Given the description of an element on the screen output the (x, y) to click on. 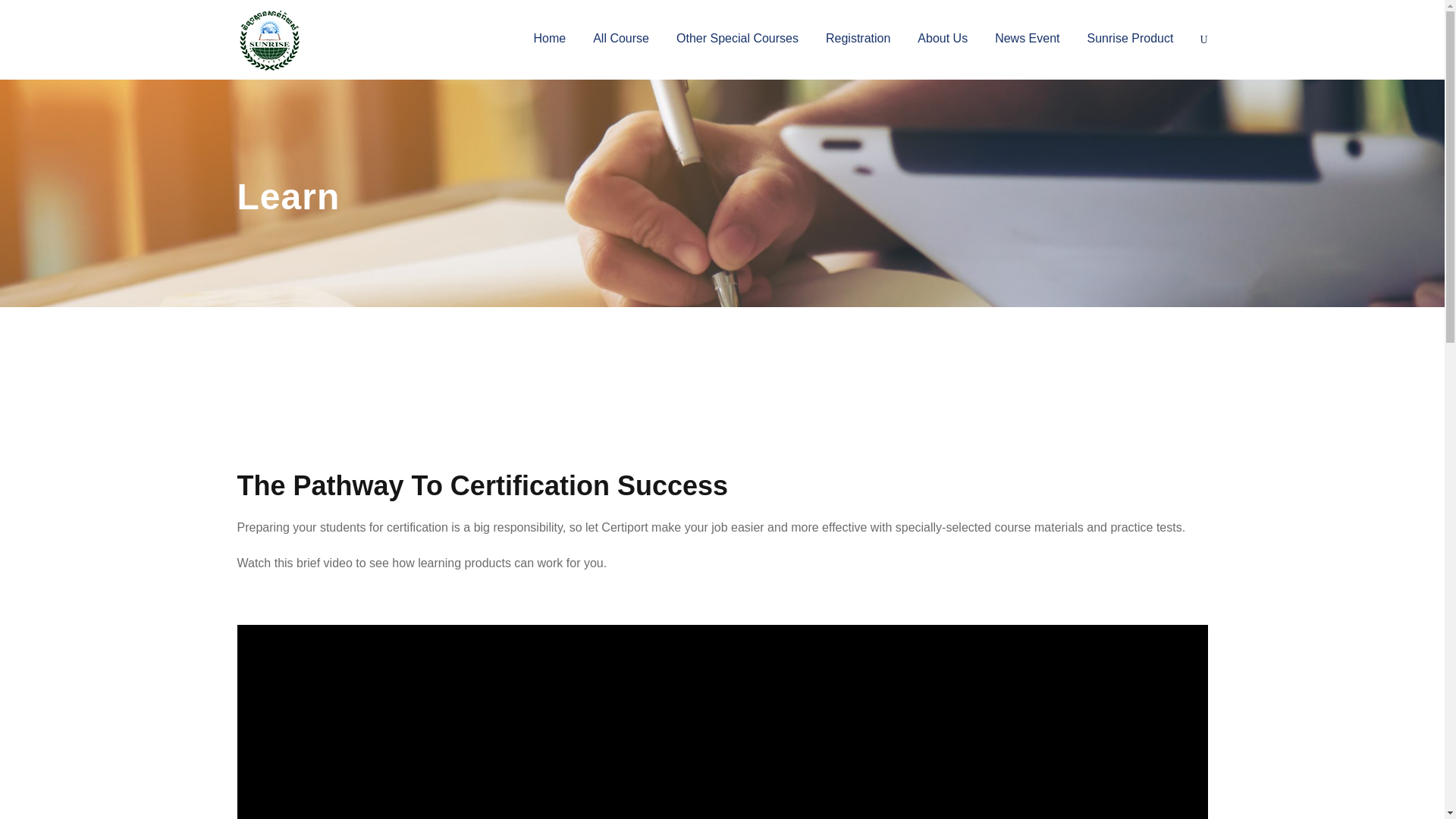
All Course (620, 50)
logo (268, 39)
Other Special Courses (737, 50)
